Given the description of an element on the screen output the (x, y) to click on. 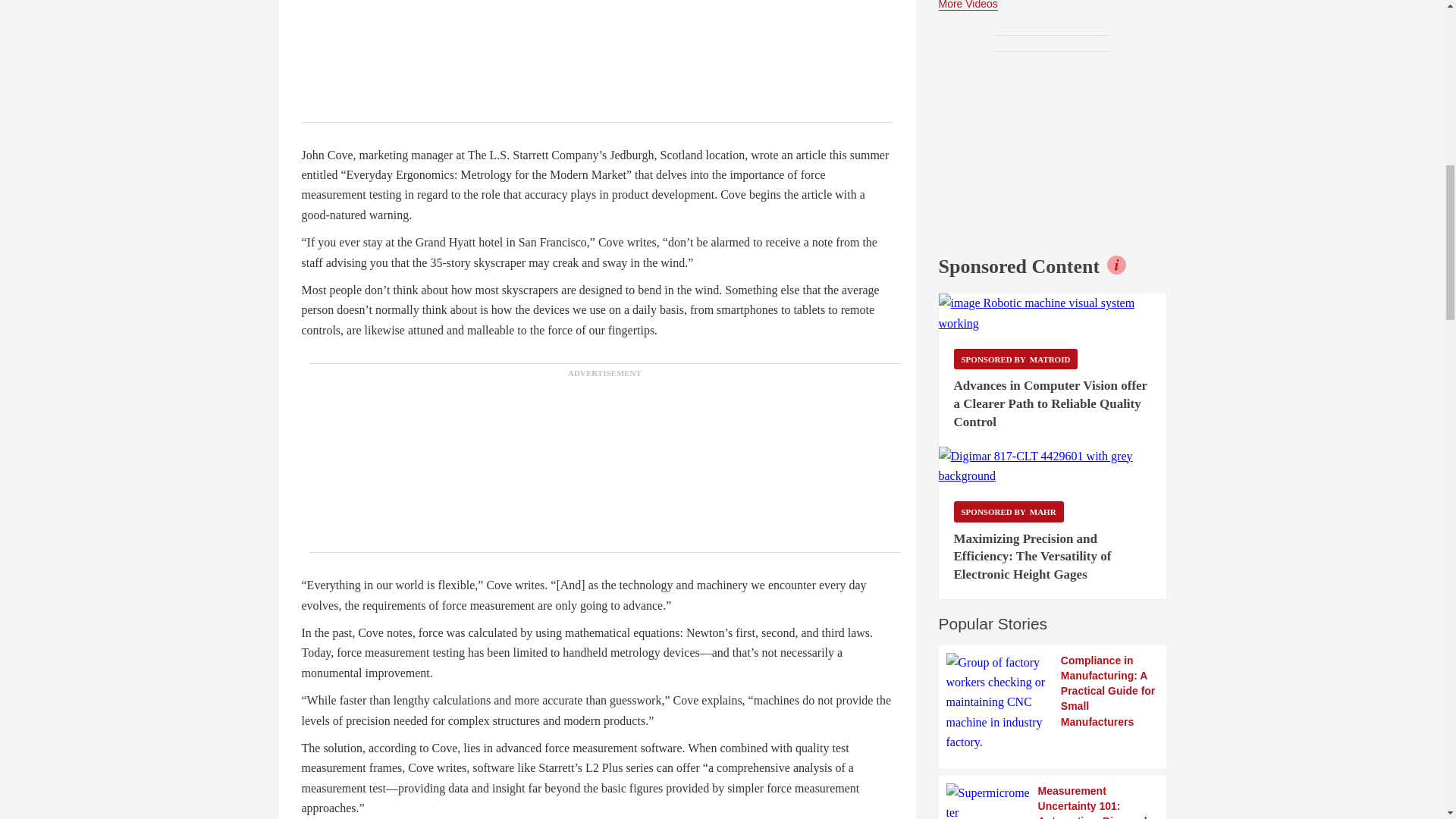
Robotic machine visual system working (1052, 313)
Sponsored by Matroid (1015, 358)
Sponsored by Mahr (1008, 511)
Digimar 817-CLT 4429601 with grey background (1052, 466)
